Given the description of an element on the screen output the (x, y) to click on. 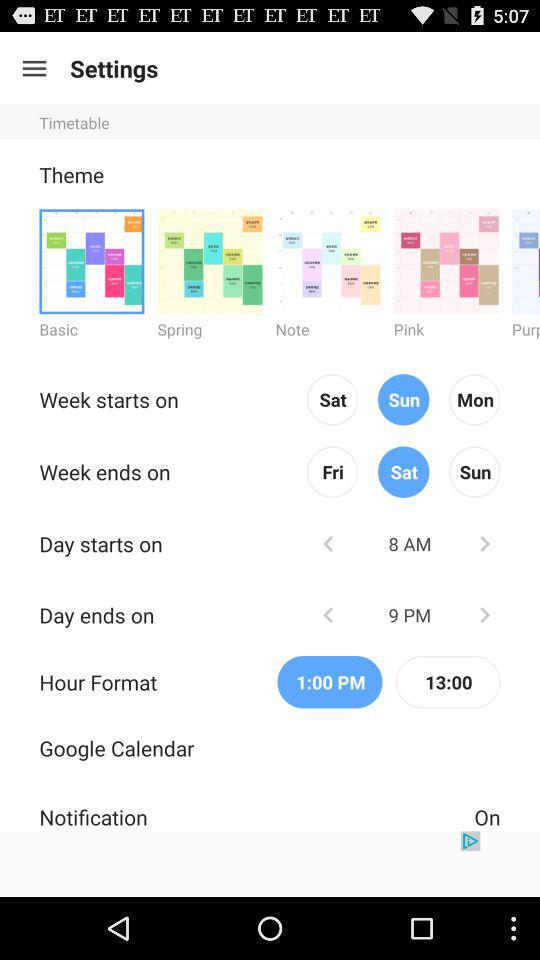
next hour option (484, 614)
